Given the description of an element on the screen output the (x, y) to click on. 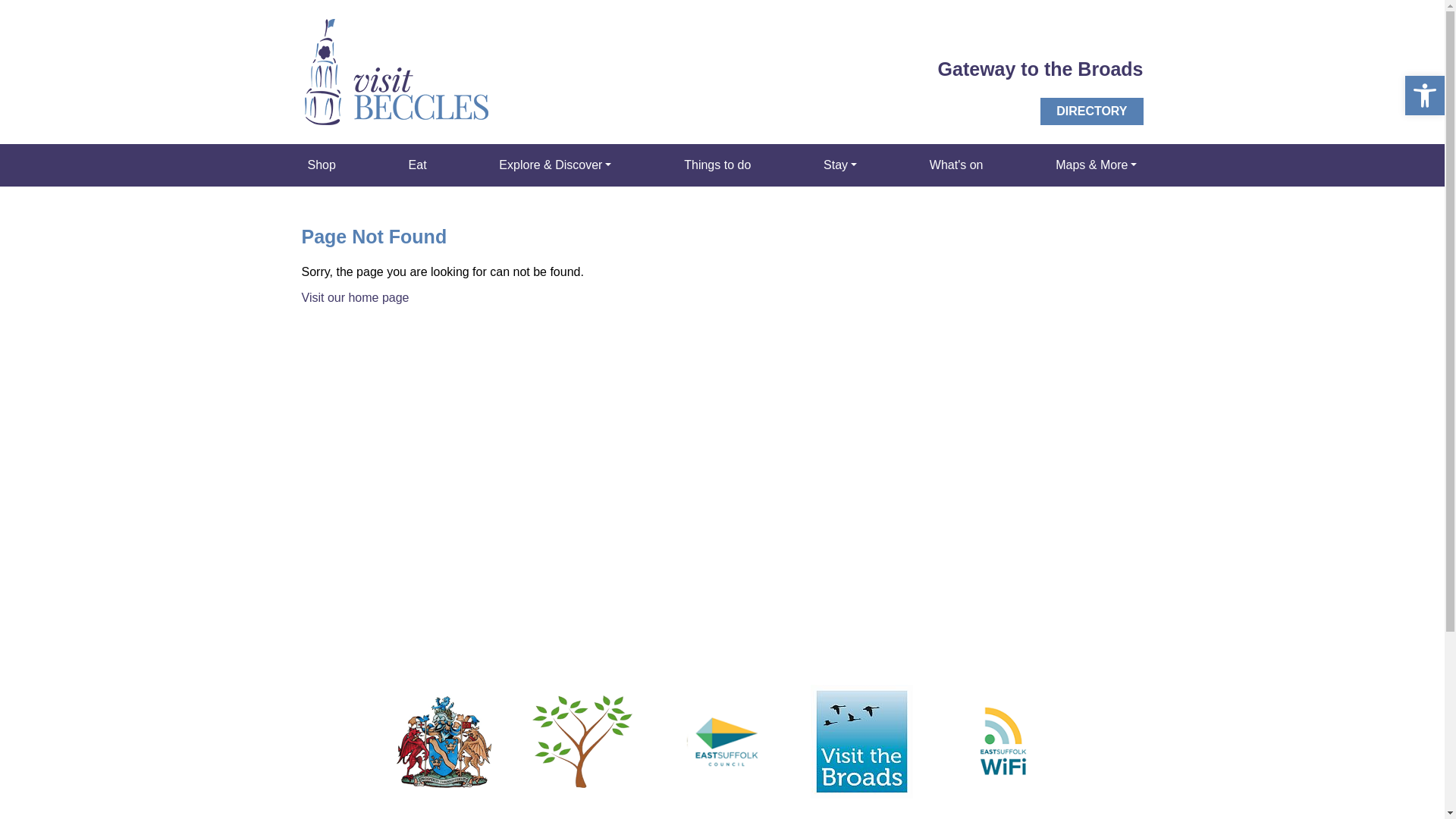
Shop (321, 164)
Eat (417, 164)
DIRECTORY (1091, 111)
Accessibility Tools (1424, 95)
